Given the description of an element on the screen output the (x, y) to click on. 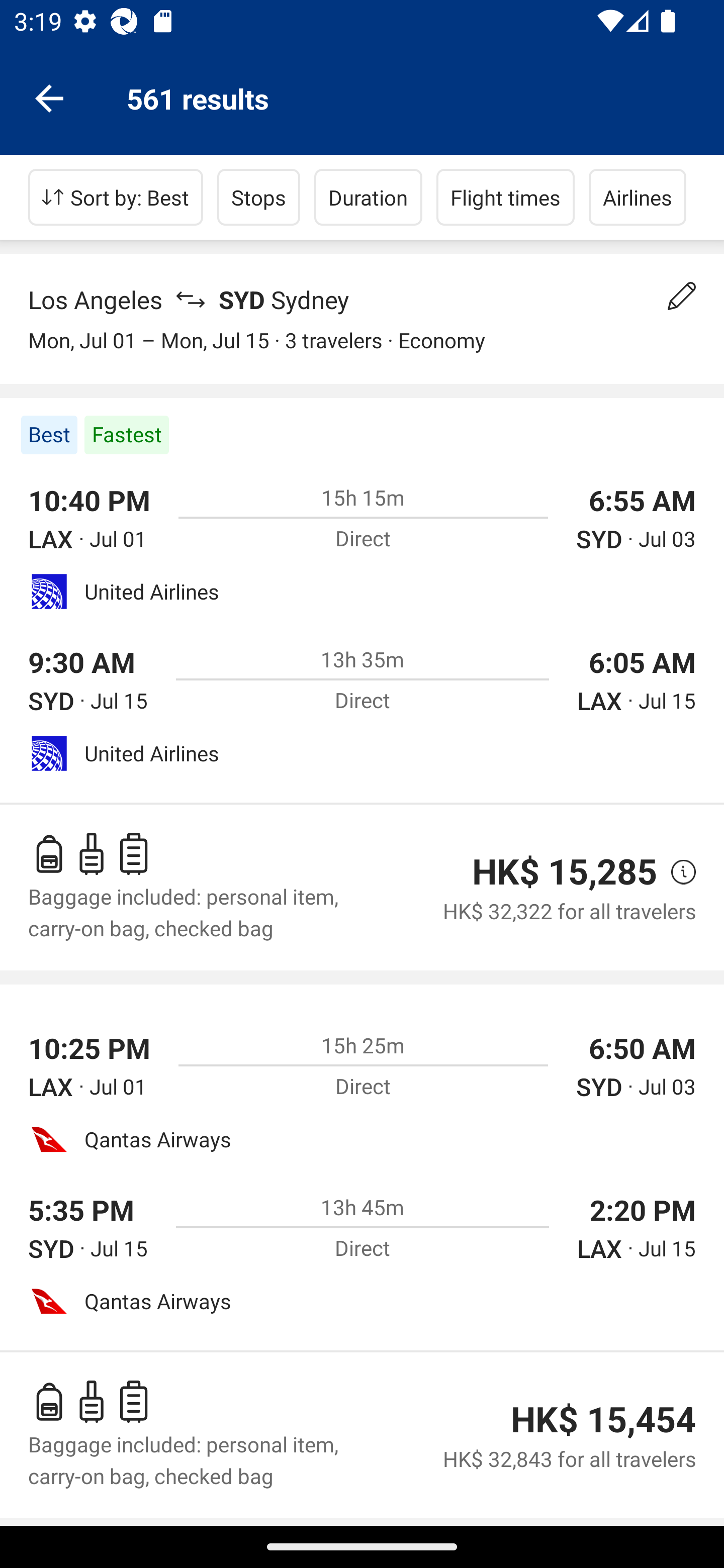
Navigate up (49, 97)
Sort by: Best (115, 197)
Stops (258, 197)
Duration (368, 197)
Flight times (505, 197)
Airlines (637, 197)
Change your search details (681, 296)
HK$ 15,285 (564, 871)
view price details, opens a pop-up (676, 872)
HK$ 15,454 (603, 1419)
